Given the description of an element on the screen output the (x, y) to click on. 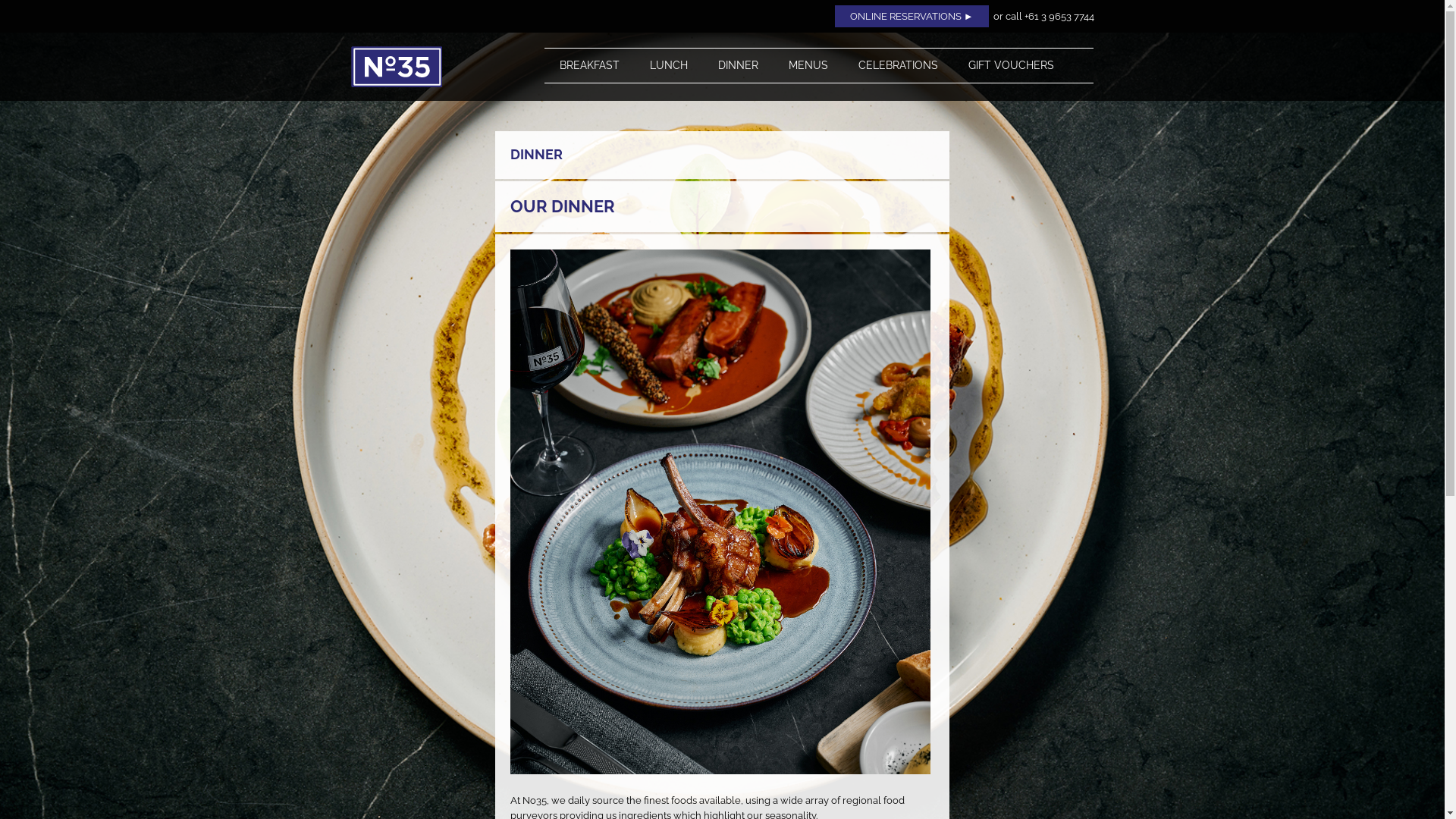
MENUS Element type: text (808, 65)
No35 Restaurant, Melbourne Element type: text (430, 66)
CELEBRATIONS Element type: text (898, 65)
LUNCH Element type: text (668, 65)
BREAKFAST Element type: text (589, 65)
DINNER Element type: text (737, 65)
GIFT VOUCHERS Element type: text (1011, 65)
